Given the description of an element on the screen output the (x, y) to click on. 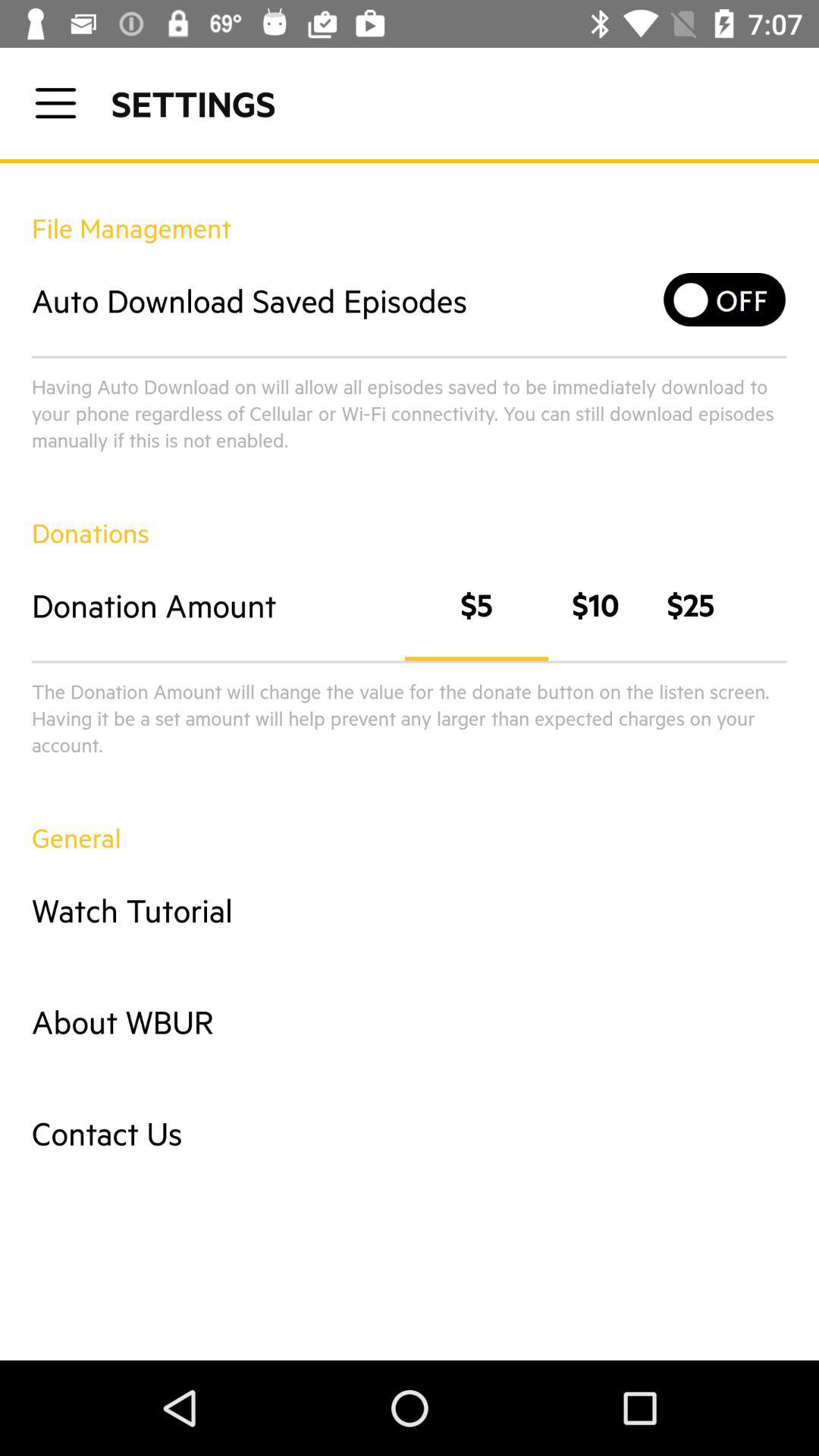
press watch tutorial icon (409, 909)
